Given the description of an element on the screen output the (x, y) to click on. 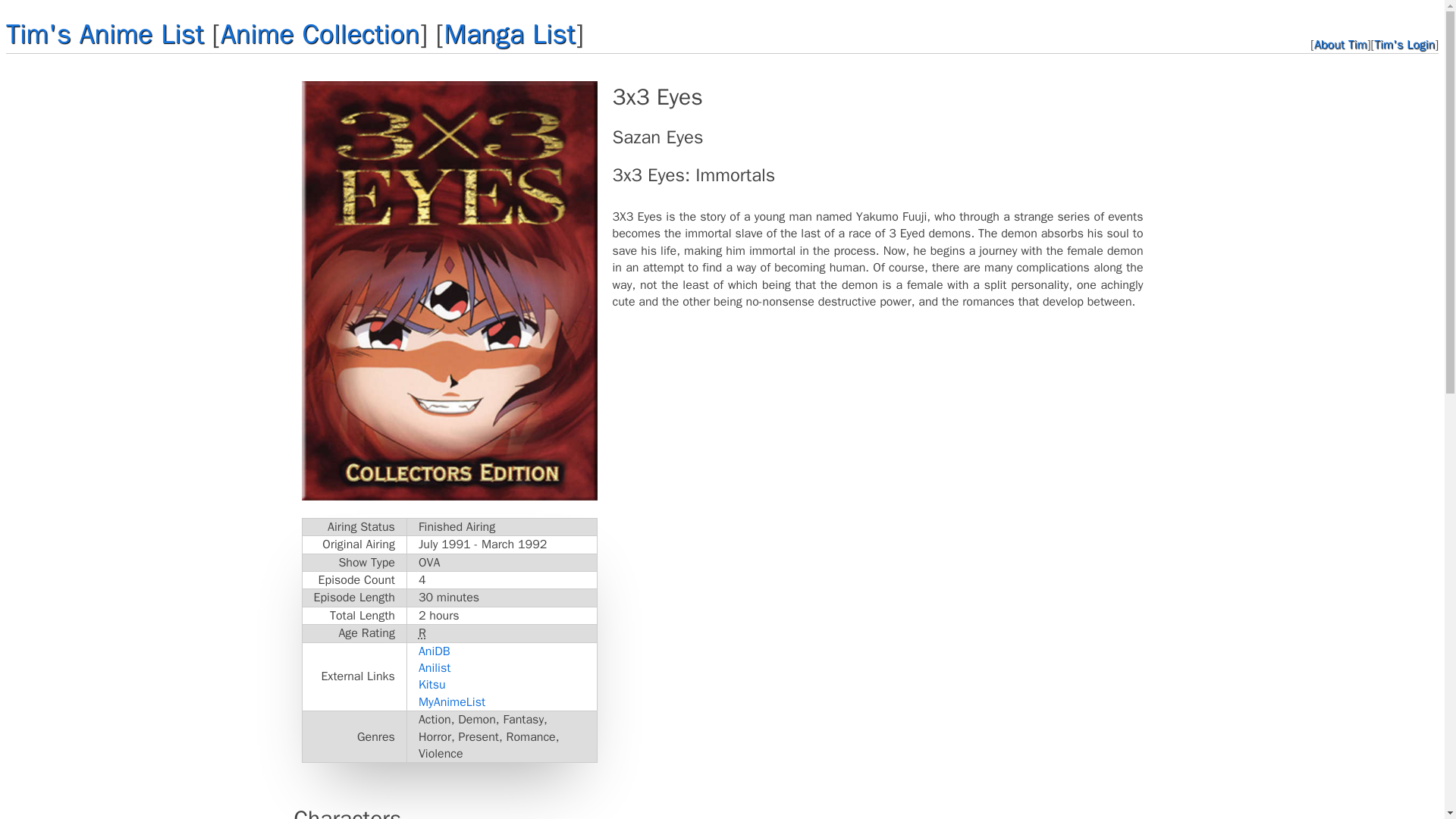
Tim's Anime List (104, 33)
Kitsu (432, 684)
Anilist (434, 667)
About Tim (1340, 44)
Anime Collection (320, 33)
AniDB (434, 651)
MyAnimeList (451, 702)
Manga List (509, 33)
